Given the description of an element on the screen output the (x, y) to click on. 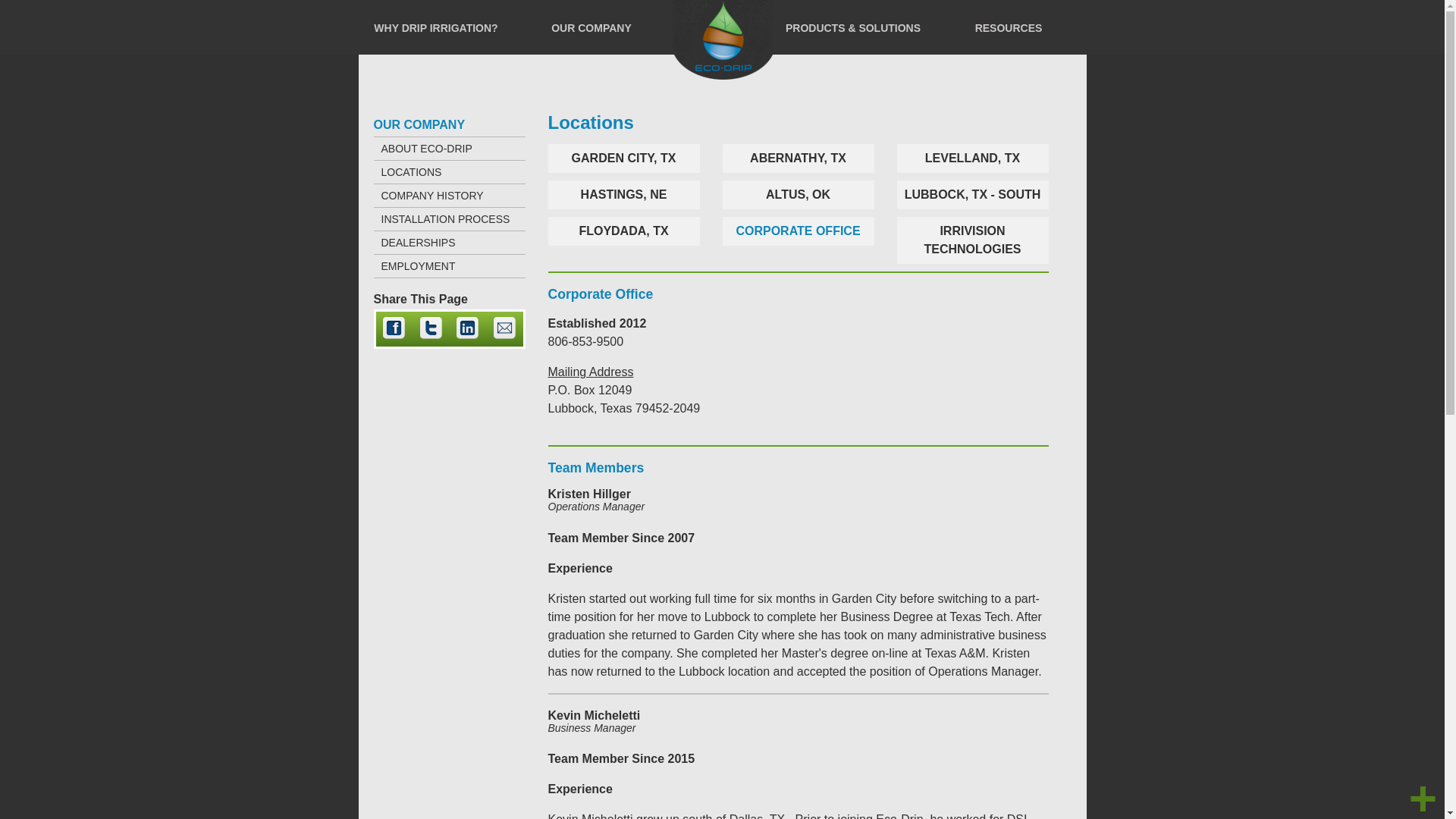
WHY DRIP IRRIGATION? (435, 27)
LinkedIn (467, 336)
Facebook (393, 336)
E-mail (504, 336)
RESOURCES (1008, 27)
OUR COMPANY (591, 27)
Twitter (431, 336)
